Given the description of an element on the screen output the (x, y) to click on. 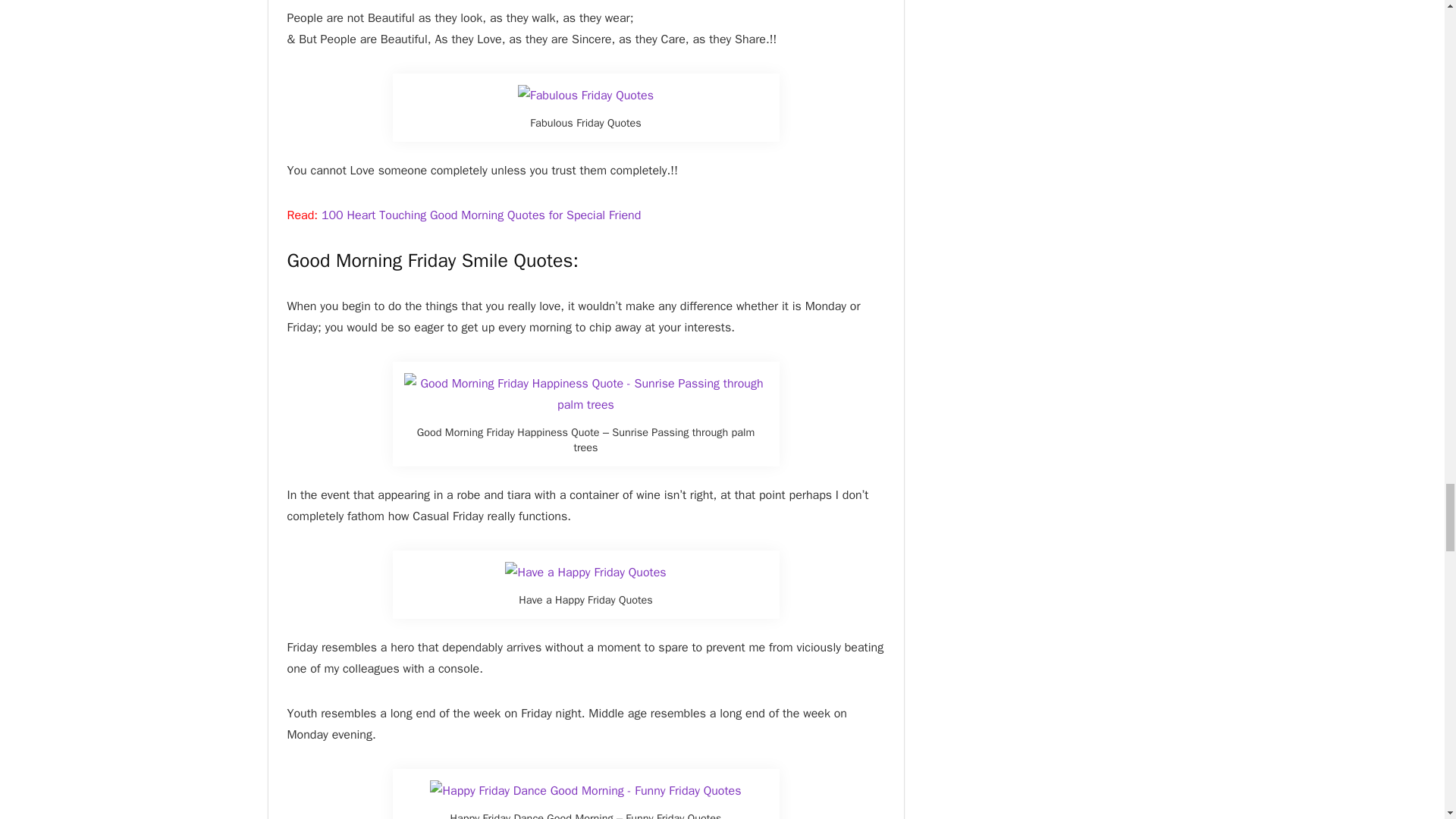
Fabulous Friday Quotes (585, 95)
Have a Happy Friday Quotes (585, 572)
